Given the description of an element on the screen output the (x, y) to click on. 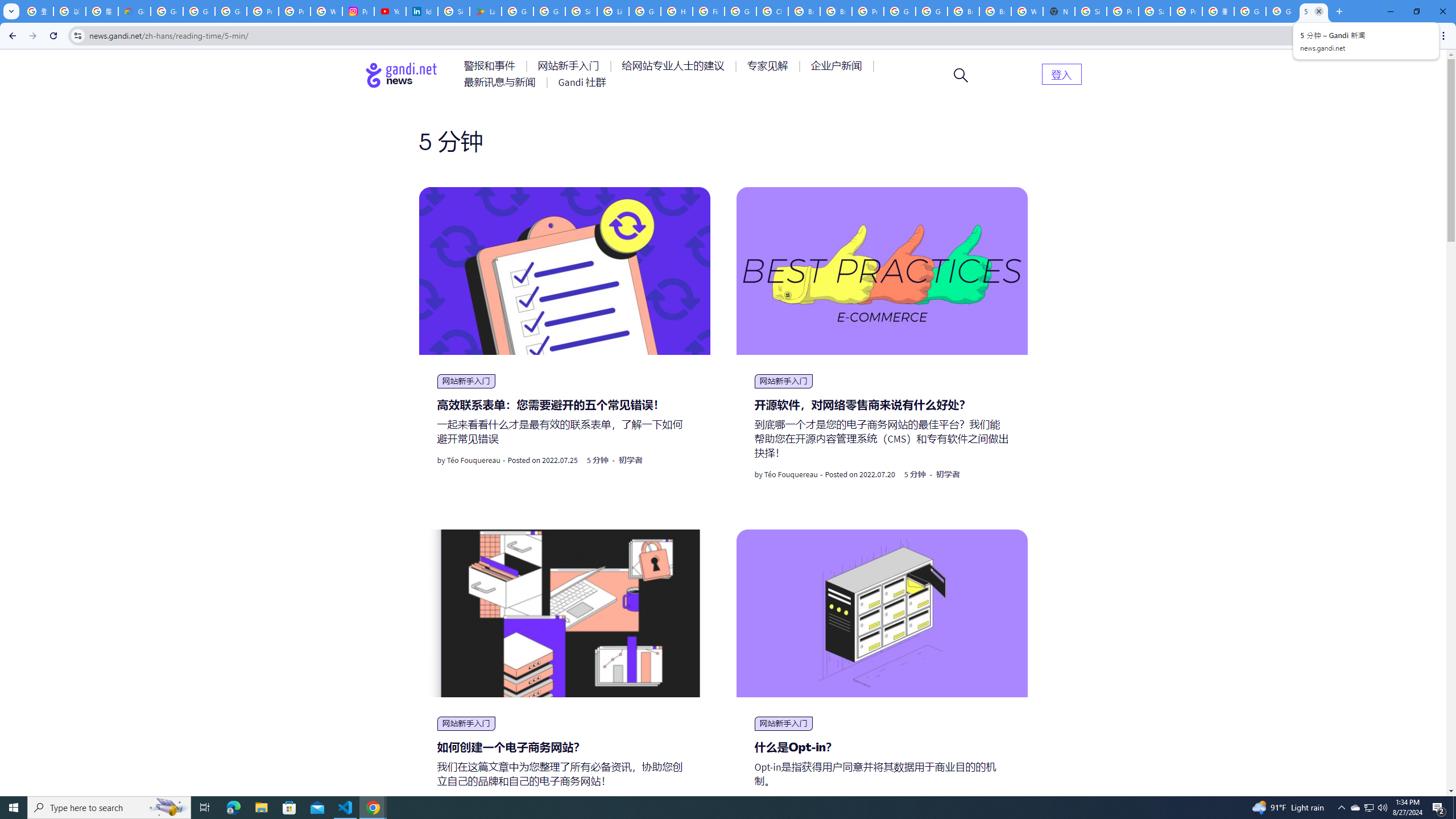
Last Shelter: Survival - Apps on Google Play (485, 11)
AutomationID: menu-item-77765 (838, 65)
Open search form (960, 74)
